Given the description of an element on the screen output the (x, y) to click on. 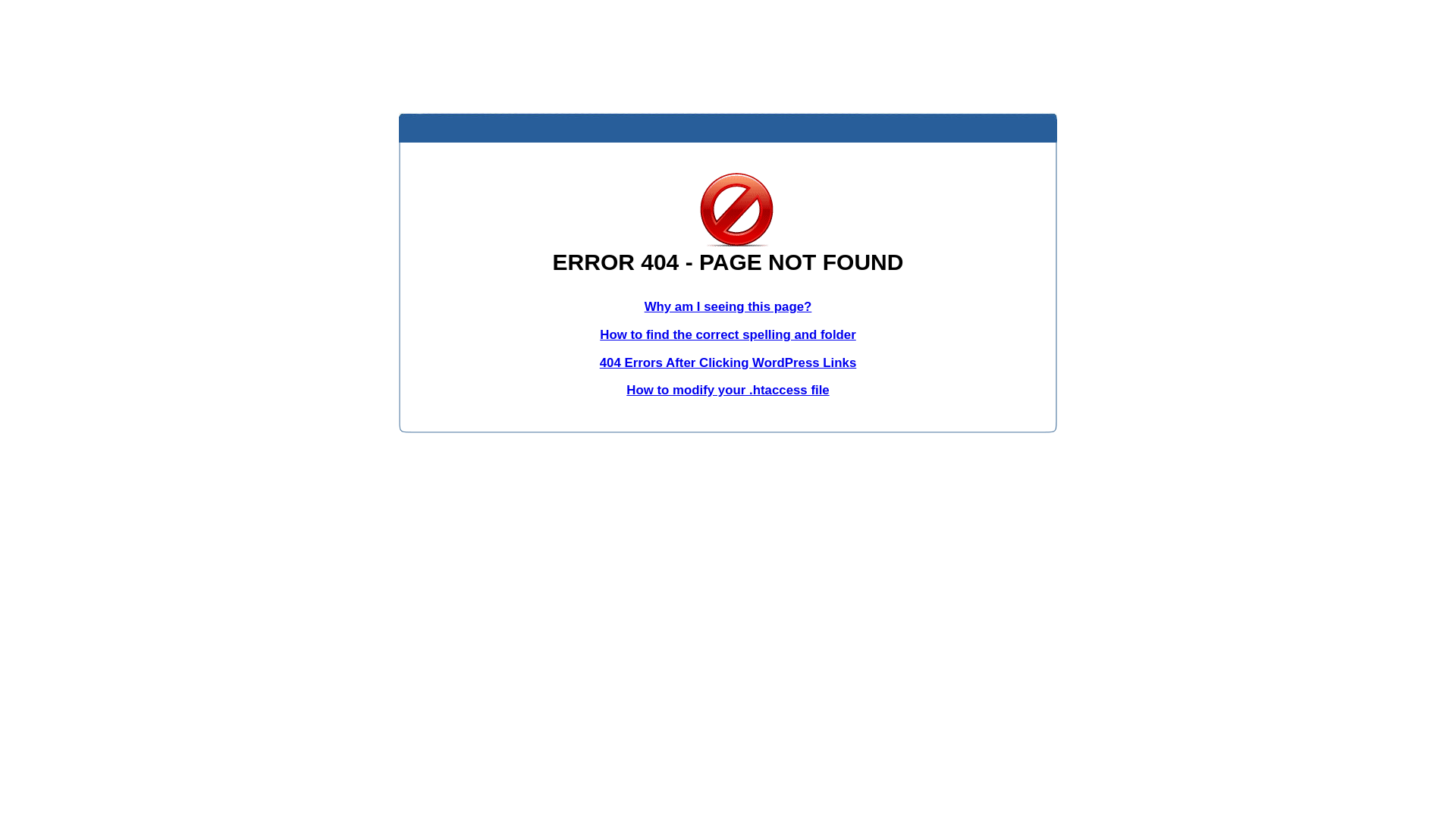
How to modify your .htaccess file Element type: text (727, 389)
How to find the correct spelling and folder Element type: text (727, 334)
Why am I seeing this page? Element type: text (728, 306)
404 Errors After Clicking WordPress Links Element type: text (727, 362)
